Given the description of an element on the screen output the (x, y) to click on. 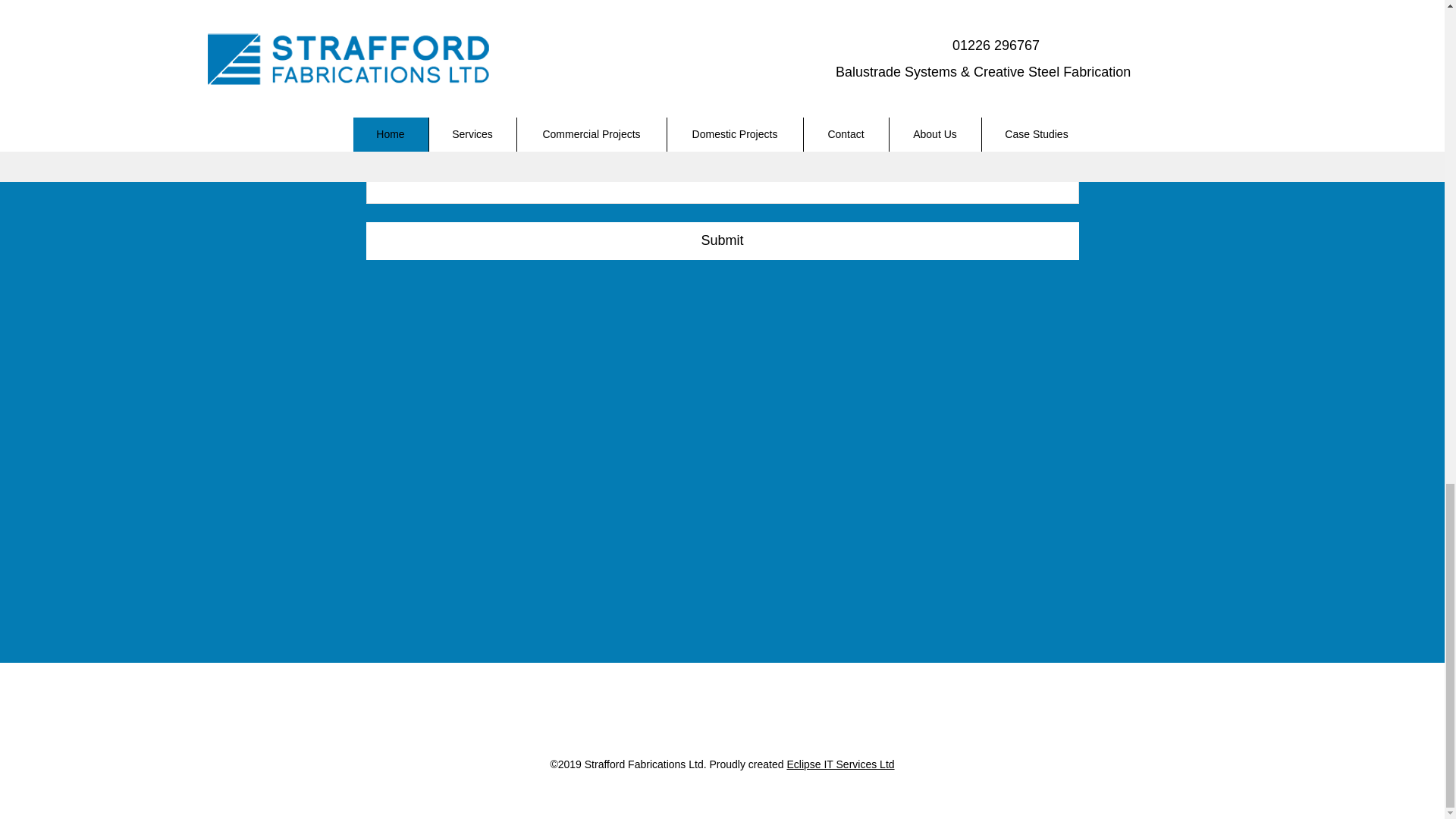
Submit (721, 240)
Eclipse IT Services Ltd (839, 764)
